Given the description of an element on the screen output the (x, y) to click on. 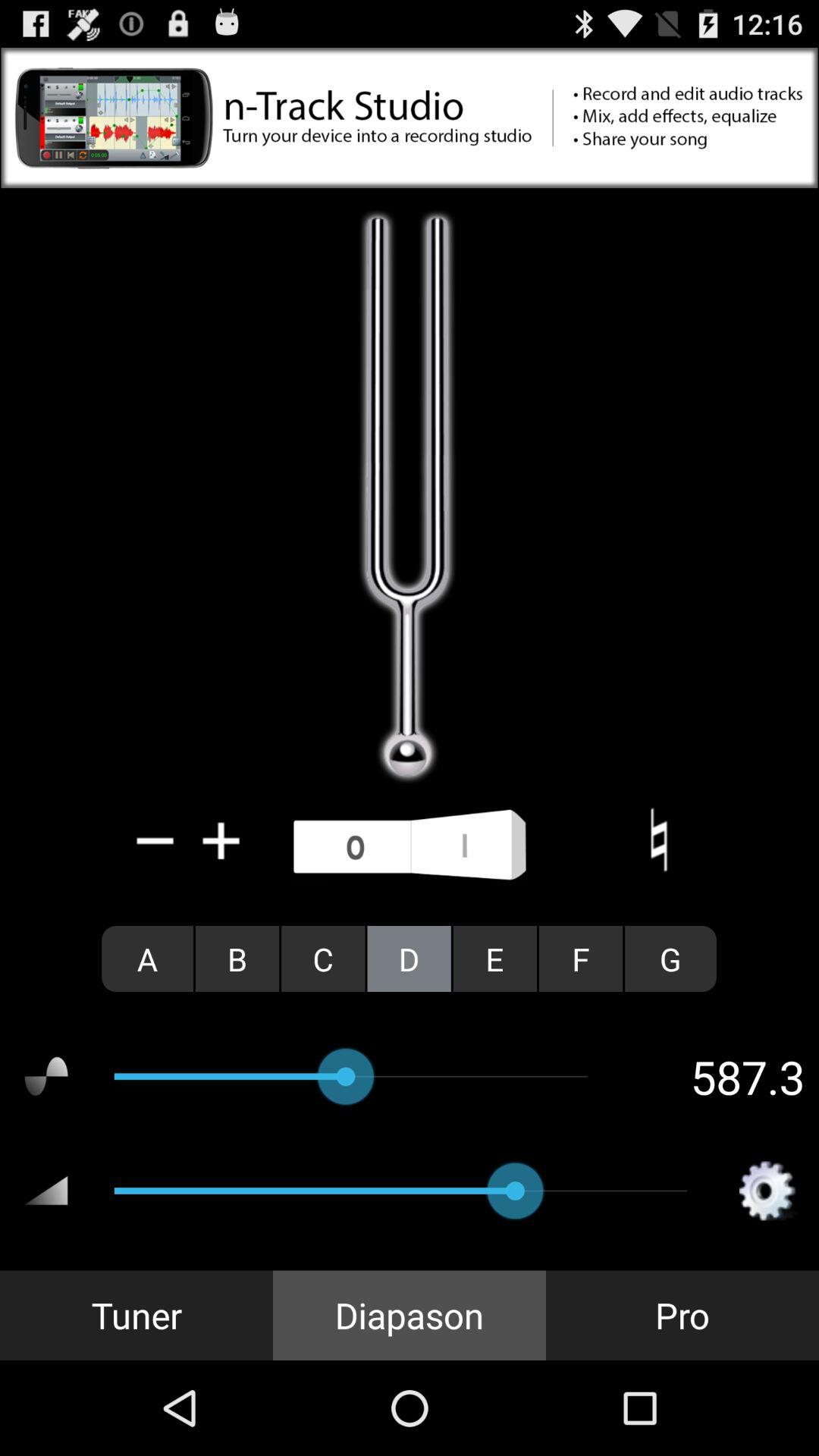
choose the item next to the tuner (409, 1315)
